Given the description of an element on the screen output the (x, y) to click on. 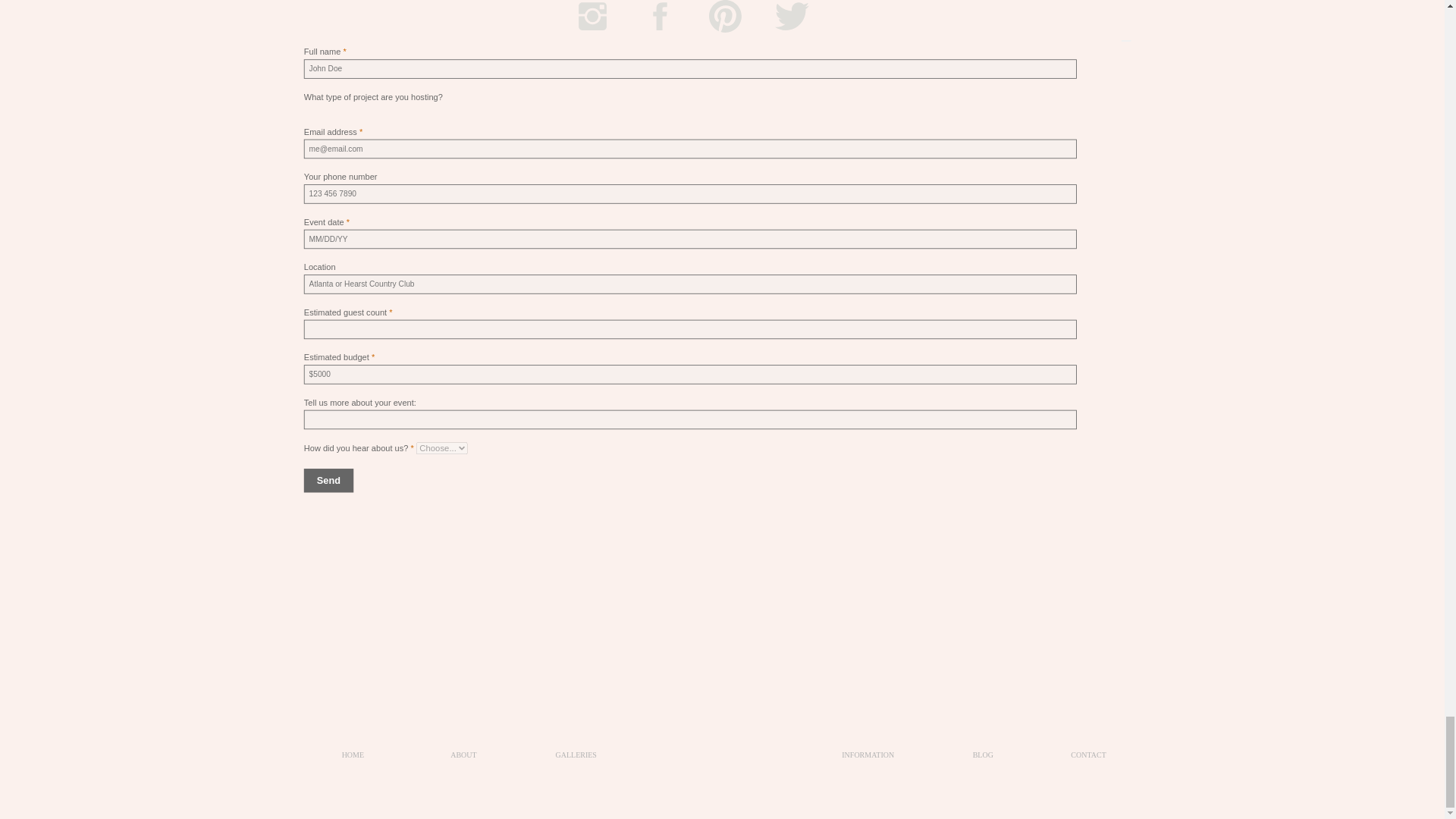
ABOUT (463, 761)
CONTACT (1088, 756)
BLOG (982, 761)
HOME (352, 761)
GALLERIES (575, 761)
INFORMATION (867, 761)
